Given the description of an element on the screen output the (x, y) to click on. 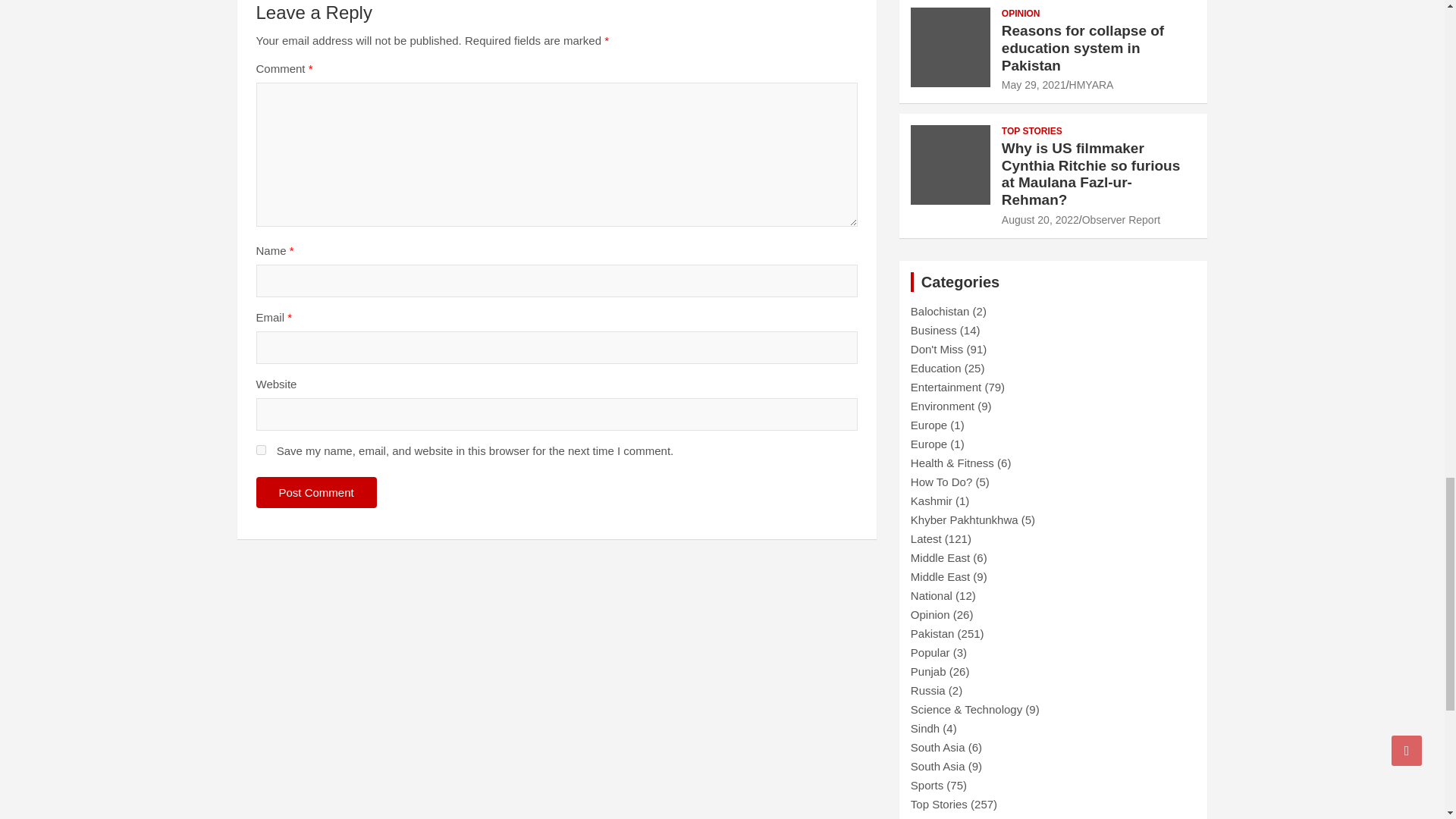
yes (261, 450)
Post Comment (316, 491)
Reasons for collapse of education system in Pakistan (1033, 84)
